Given the description of an element on the screen output the (x, y) to click on. 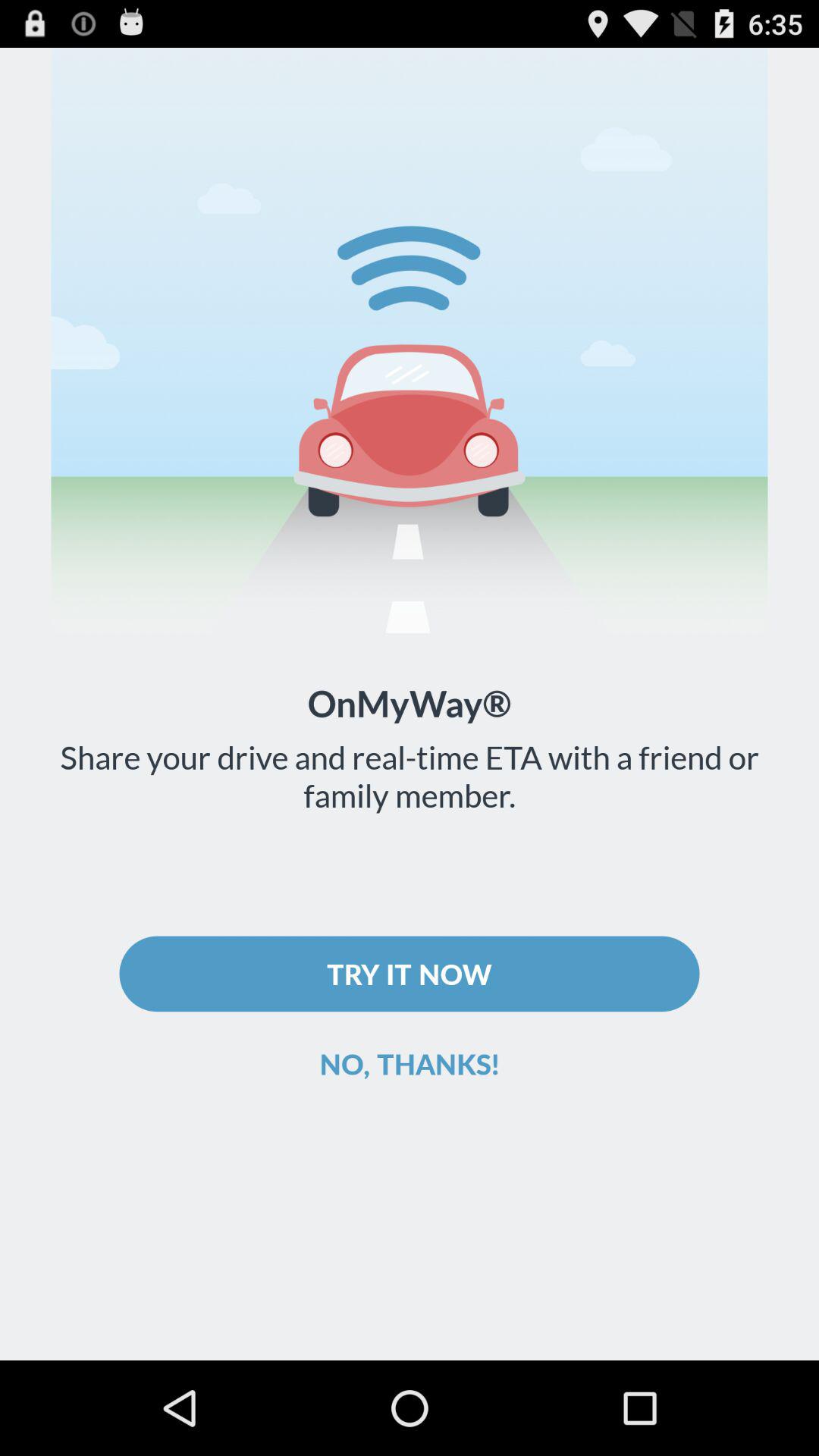
tap the no, thanks! item (409, 1063)
